Given the description of an element on the screen output the (x, y) to click on. 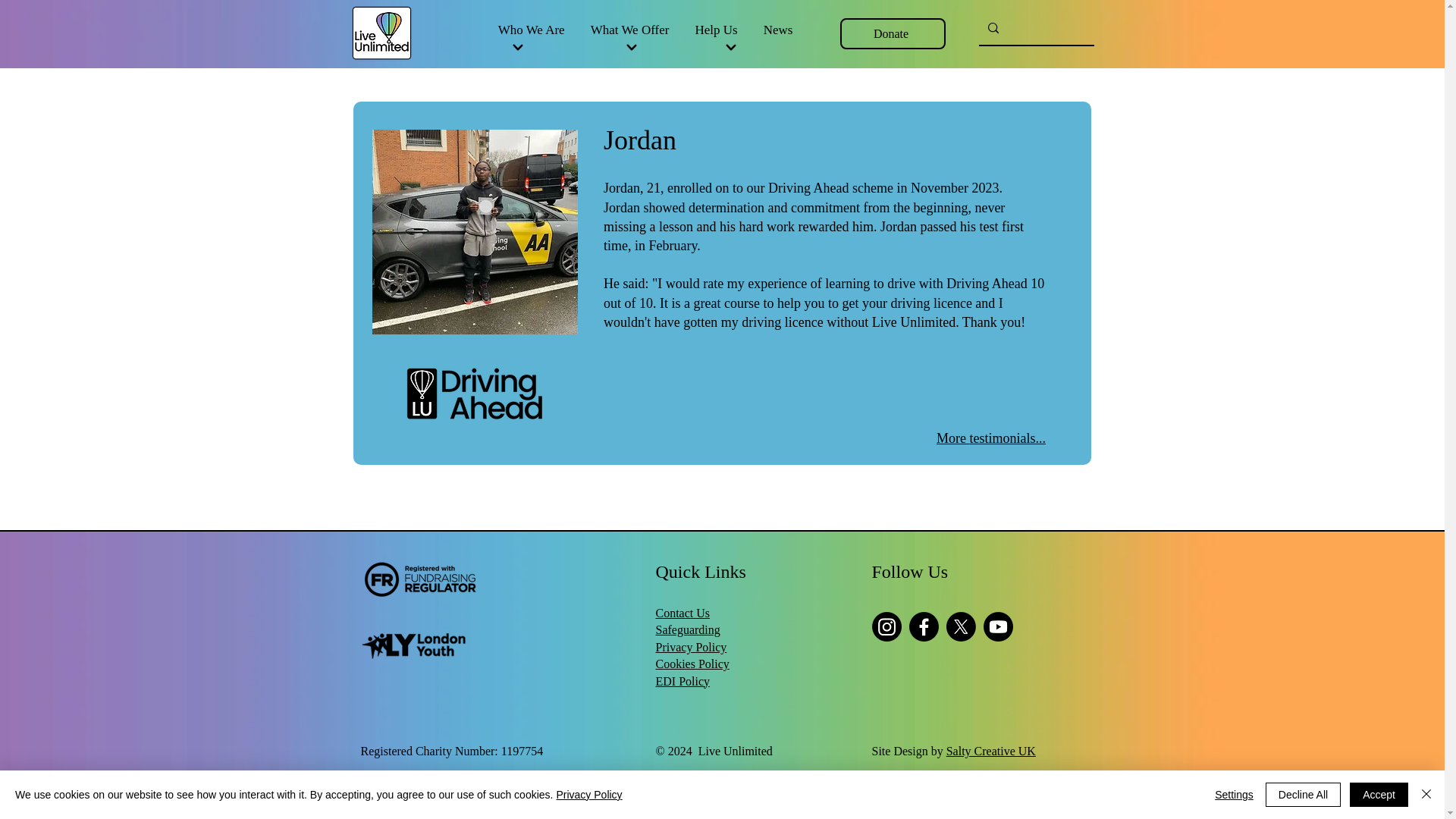
Accept (1378, 794)
Cookies Policy (692, 663)
Privacy Policy (588, 794)
Contact Us (682, 612)
More testimonials... (990, 437)
Privacy Policy (690, 646)
Salty Creative UK (990, 750)
EDI Policy (682, 680)
Donate (892, 33)
Safeguarding (687, 629)
News (777, 30)
